Given the description of an element on the screen output the (x, y) to click on. 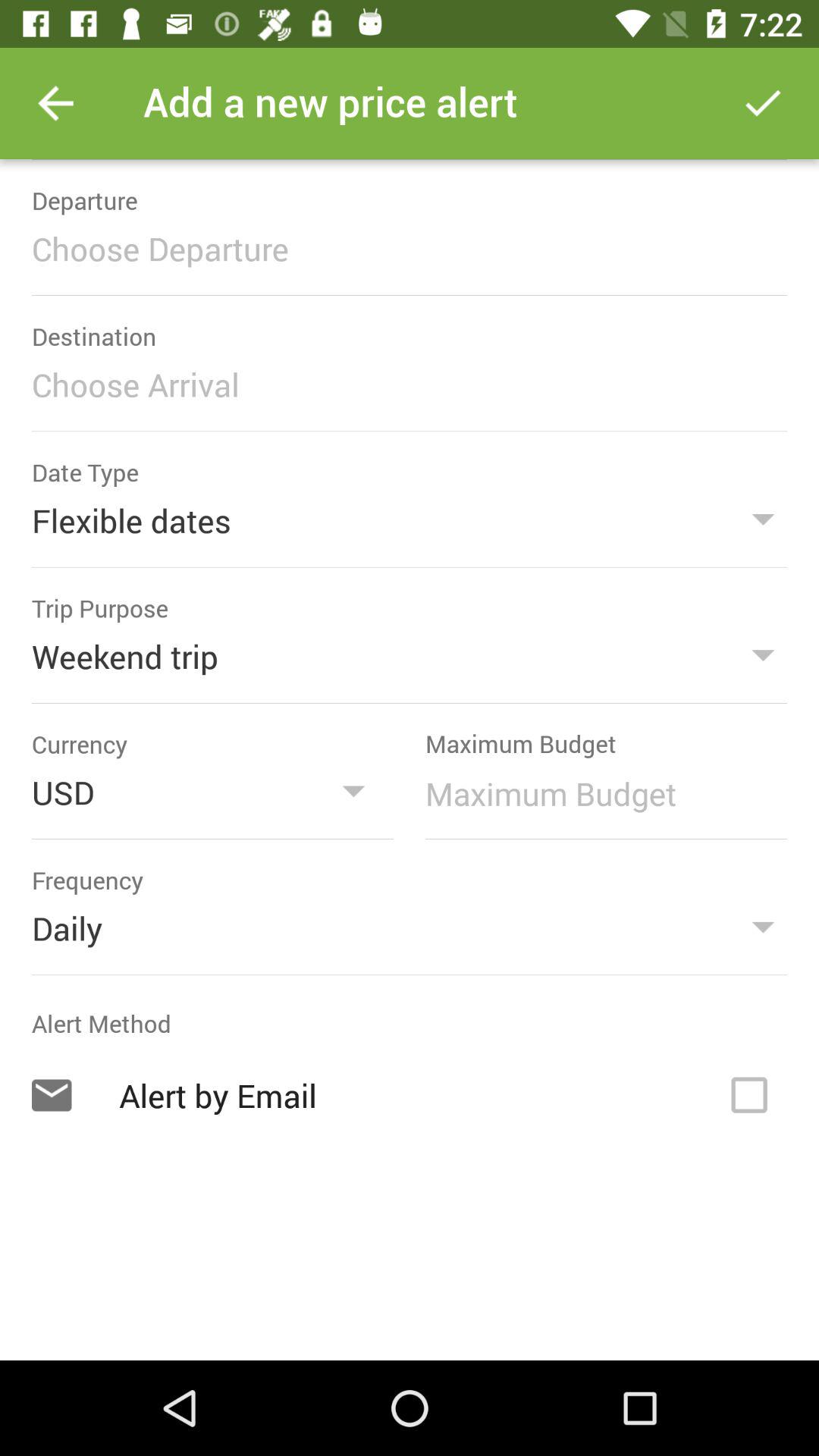
open the icon next to the add a new (763, 103)
